Given the description of an element on the screen output the (x, y) to click on. 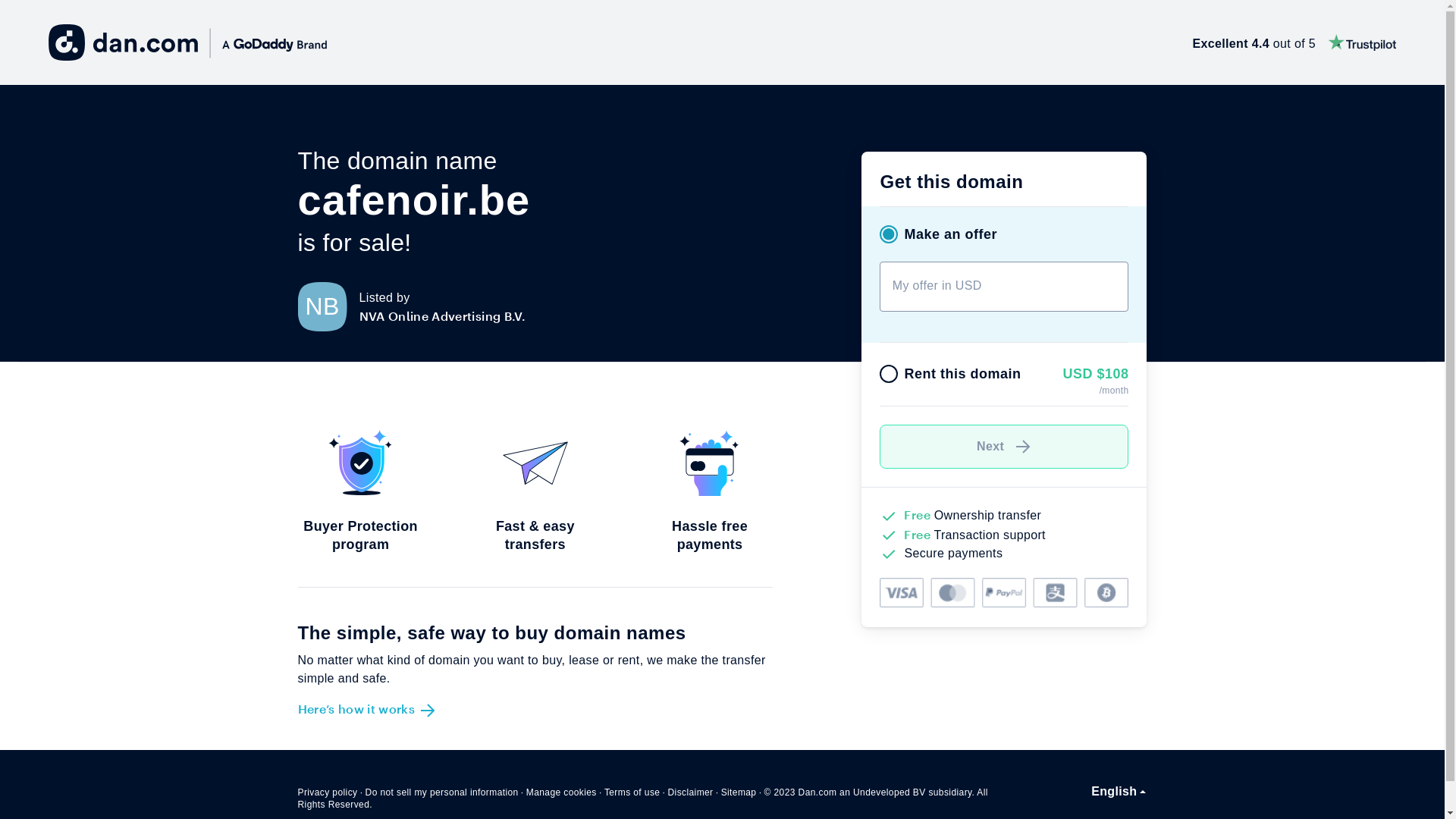
Next
) Element type: text (1003, 446)
Disclaimer Element type: text (689, 792)
Privacy policy Element type: text (327, 792)
Do not sell my personal information Element type: text (441, 792)
Sitemap Element type: text (738, 792)
Terms of use Element type: text (632, 792)
Excellent 4.4 out of 5 Element type: text (1294, 42)
English Element type: text (1118, 791)
Manage cookies Element type: text (561, 792)
